Given the description of an element on the screen output the (x, y) to click on. 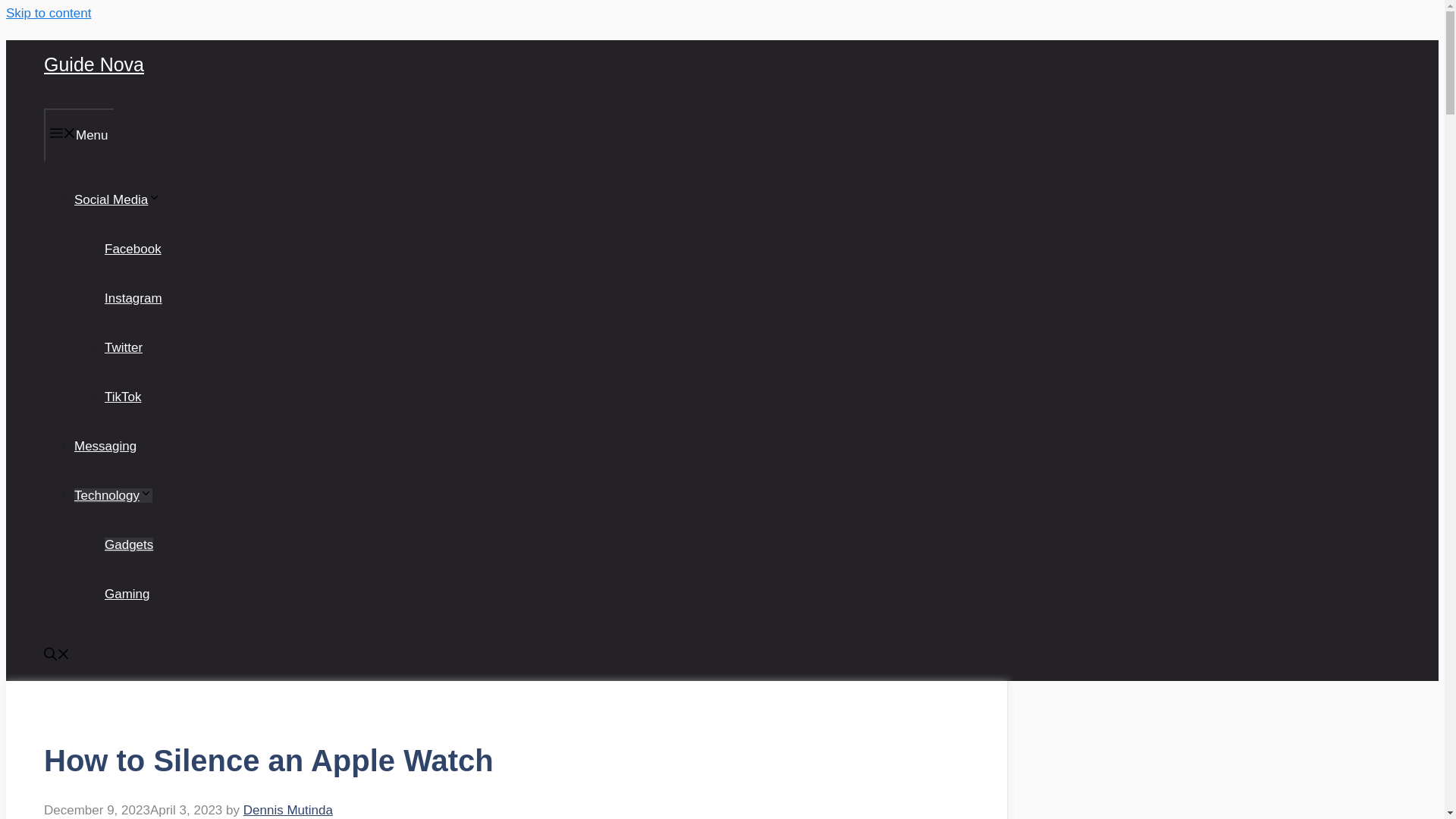
View all posts by Dennis Mutinda (288, 810)
Skip to content (47, 12)
Skip to content (47, 12)
Instagram (132, 298)
Messaging (105, 445)
Social Media (117, 199)
Guide Nova (93, 64)
Menu (79, 135)
Technology (113, 495)
Gadgets (128, 544)
Dennis Mutinda (288, 810)
TikTok (122, 396)
Twitter (123, 347)
Gaming (126, 594)
Facebook (132, 248)
